Given the description of an element on the screen output the (x, y) to click on. 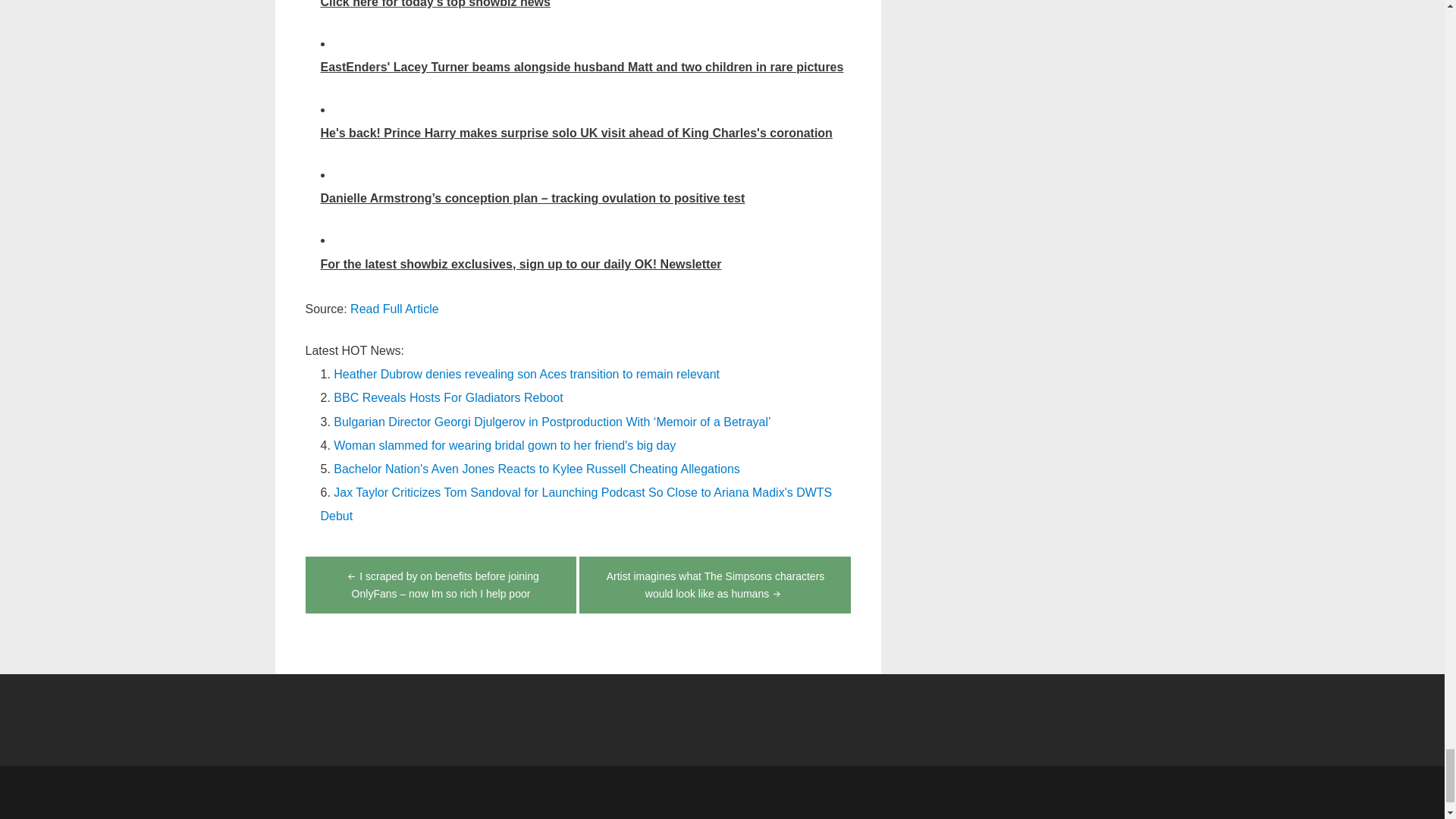
BBC Reveals Hosts For Gladiators Reboot (447, 397)
BBC Reveals Hosts For Gladiators Reboot (447, 397)
Read Full Article (394, 308)
